Given the description of an element on the screen output the (x, y) to click on. 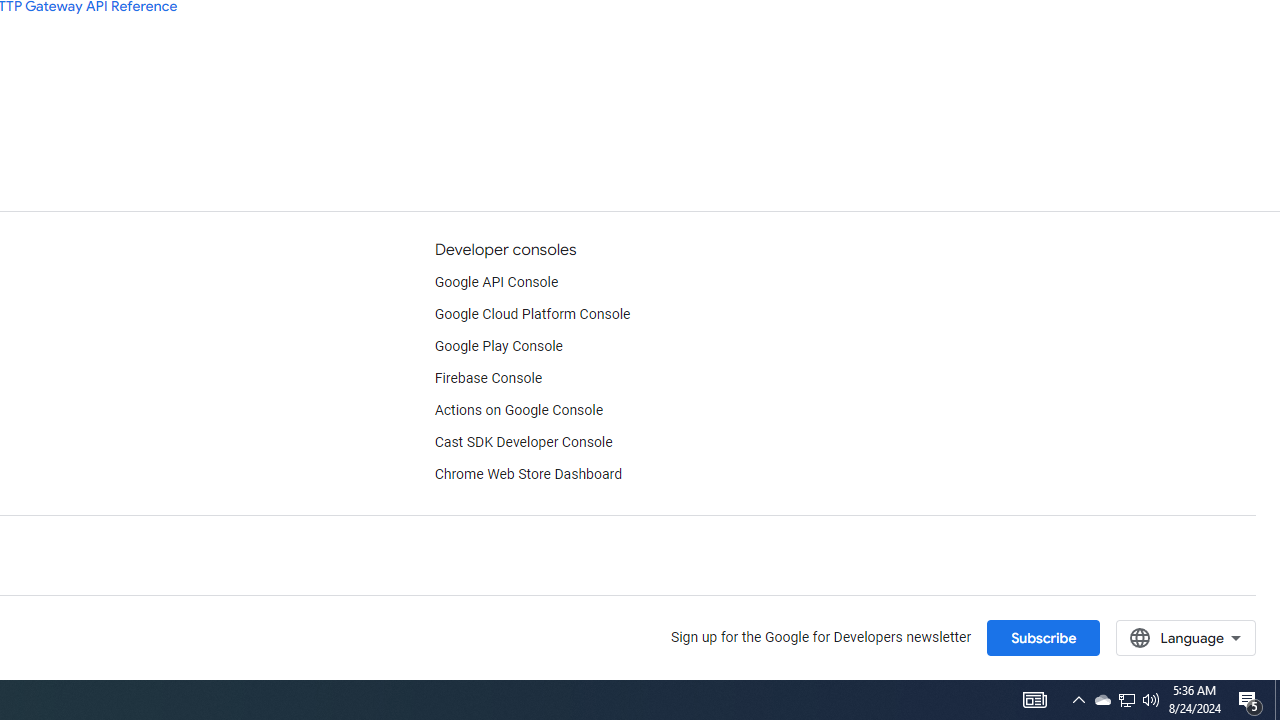
Cast SDK Developer Console (523, 442)
Google Play Console (498, 346)
Subscribe (1043, 637)
Firebase Console (487, 378)
Google Cloud Platform Console (532, 314)
Language (1185, 637)
Chrome Web Store Dashboard (528, 475)
Actions on Google Console (518, 410)
Google API Console (496, 282)
